Given the description of an element on the screen output the (x, y) to click on. 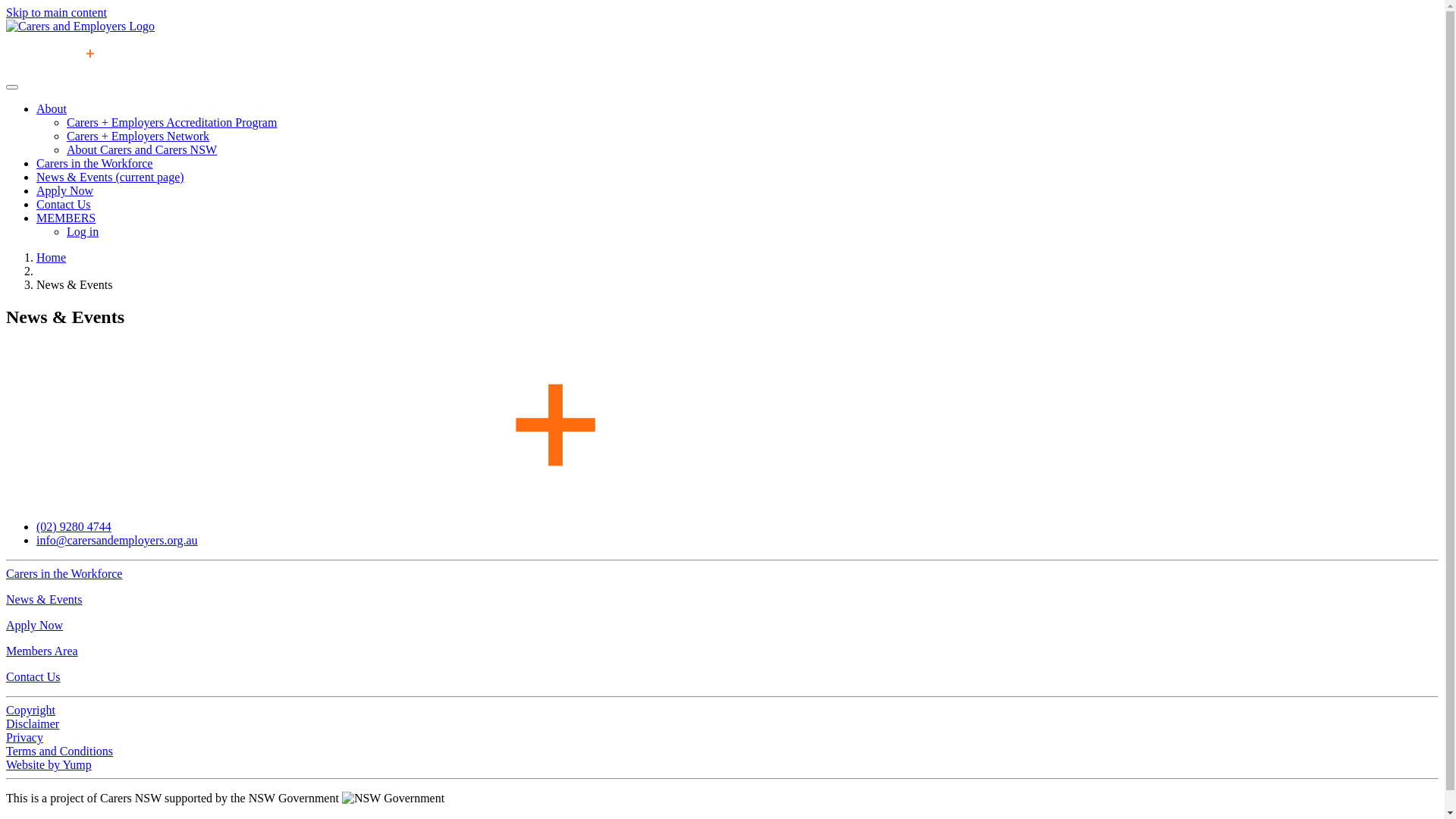
Apply Now Element type: text (34, 624)
News & Events Element type: text (43, 599)
Carers + Employers Accreditation Program Element type: text (171, 122)
Privacy Element type: text (24, 737)
info@carersandemployers.org.au Element type: text (116, 539)
Skip to main content Element type: text (56, 12)
About Element type: text (51, 108)
Carers in the Workforce Element type: text (64, 573)
News & Events (current page) Element type: text (110, 176)
Website by Yump Element type: text (48, 764)
Copyright Element type: text (30, 709)
Log in Element type: text (82, 231)
Disclaimer Element type: text (32, 723)
Contact Us Element type: text (33, 676)
Apply Now Element type: text (64, 190)
Home Element type: text (50, 257)
Contact Us Element type: text (63, 203)
(02) 9280 4744 Element type: text (73, 526)
Members Area Element type: text (42, 650)
About Carers and Carers NSW Element type: text (141, 149)
Carers in the Workforce Element type: text (94, 162)
Carers + Employers Network Element type: text (137, 135)
MEMBERS Element type: text (65, 217)
Terms and Conditions Element type: text (59, 750)
